Given the description of an element on the screen output the (x, y) to click on. 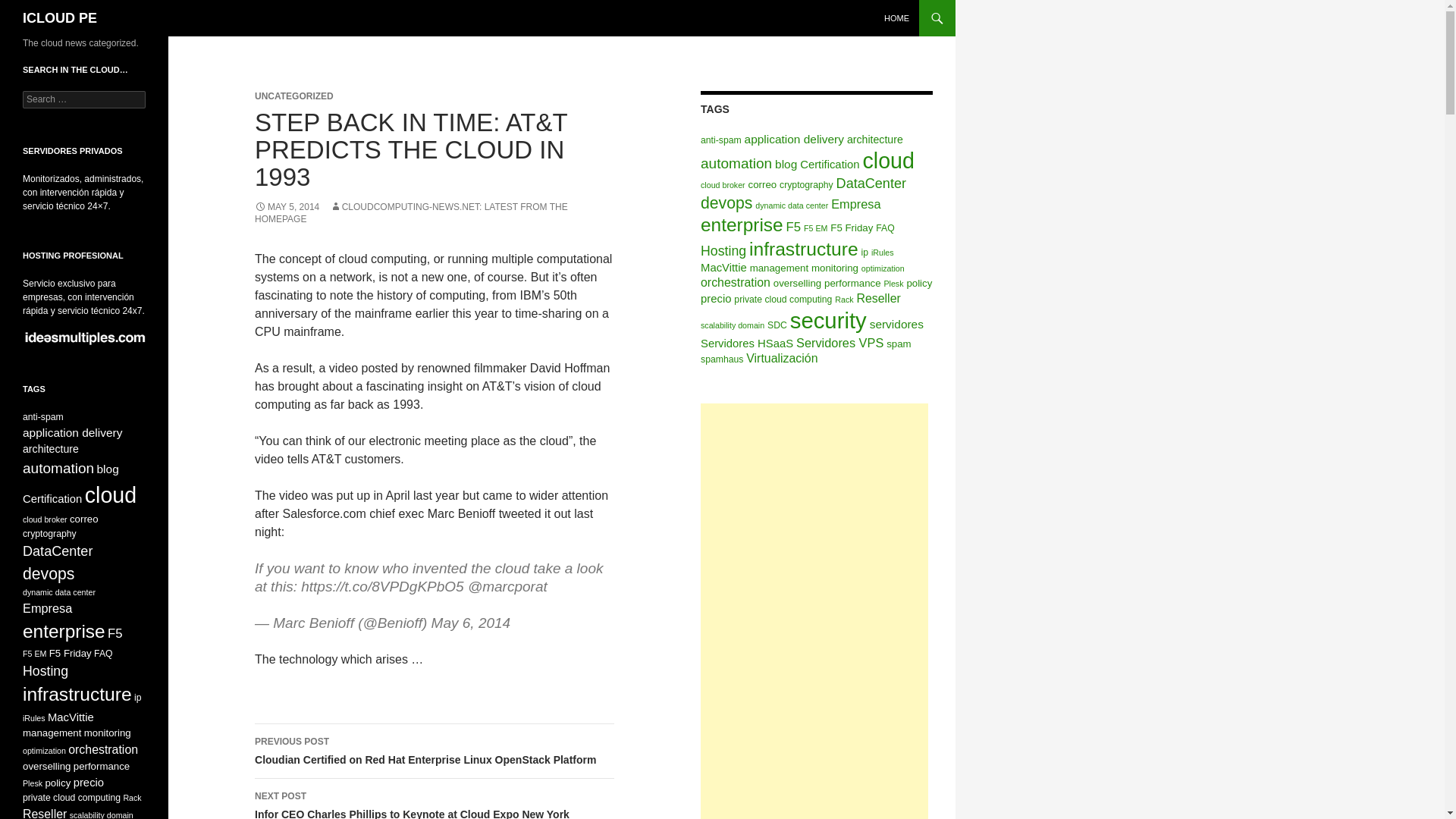
anti-spam (720, 140)
cloud broker (722, 184)
F5 EM (815, 227)
infrastructure (804, 249)
monitoring (834, 267)
management (778, 267)
automation (735, 163)
DataCenter (870, 183)
enterprise (741, 224)
MAY 5, 2014 (286, 206)
